Given the description of an element on the screen output the (x, y) to click on. 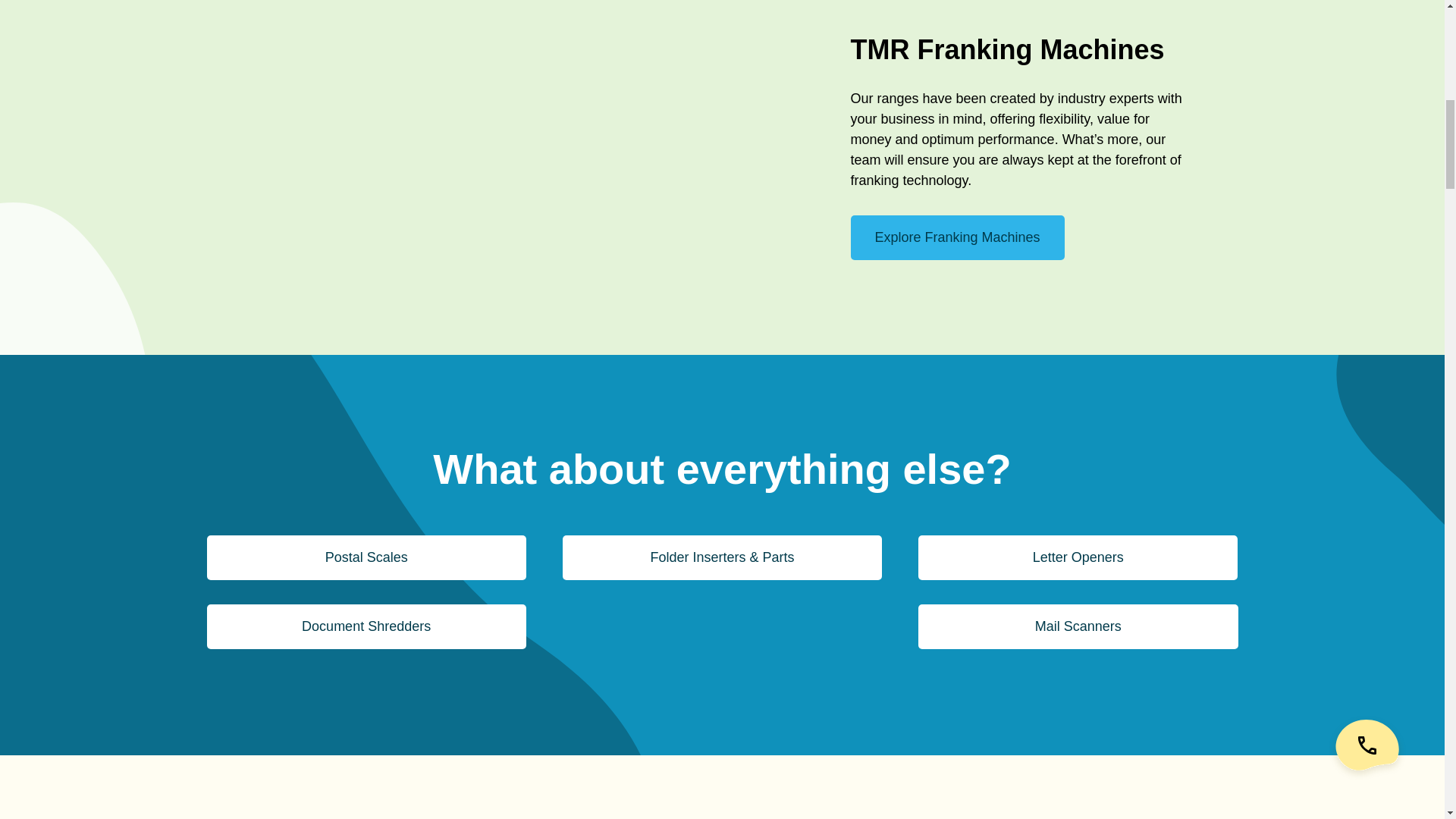
Explore Franking Machines (957, 237)
Postal Scales (365, 557)
Mail Scanners (1077, 626)
Document Shredders (365, 626)
Letter Openers (1077, 557)
